Given the description of an element on the screen output the (x, y) to click on. 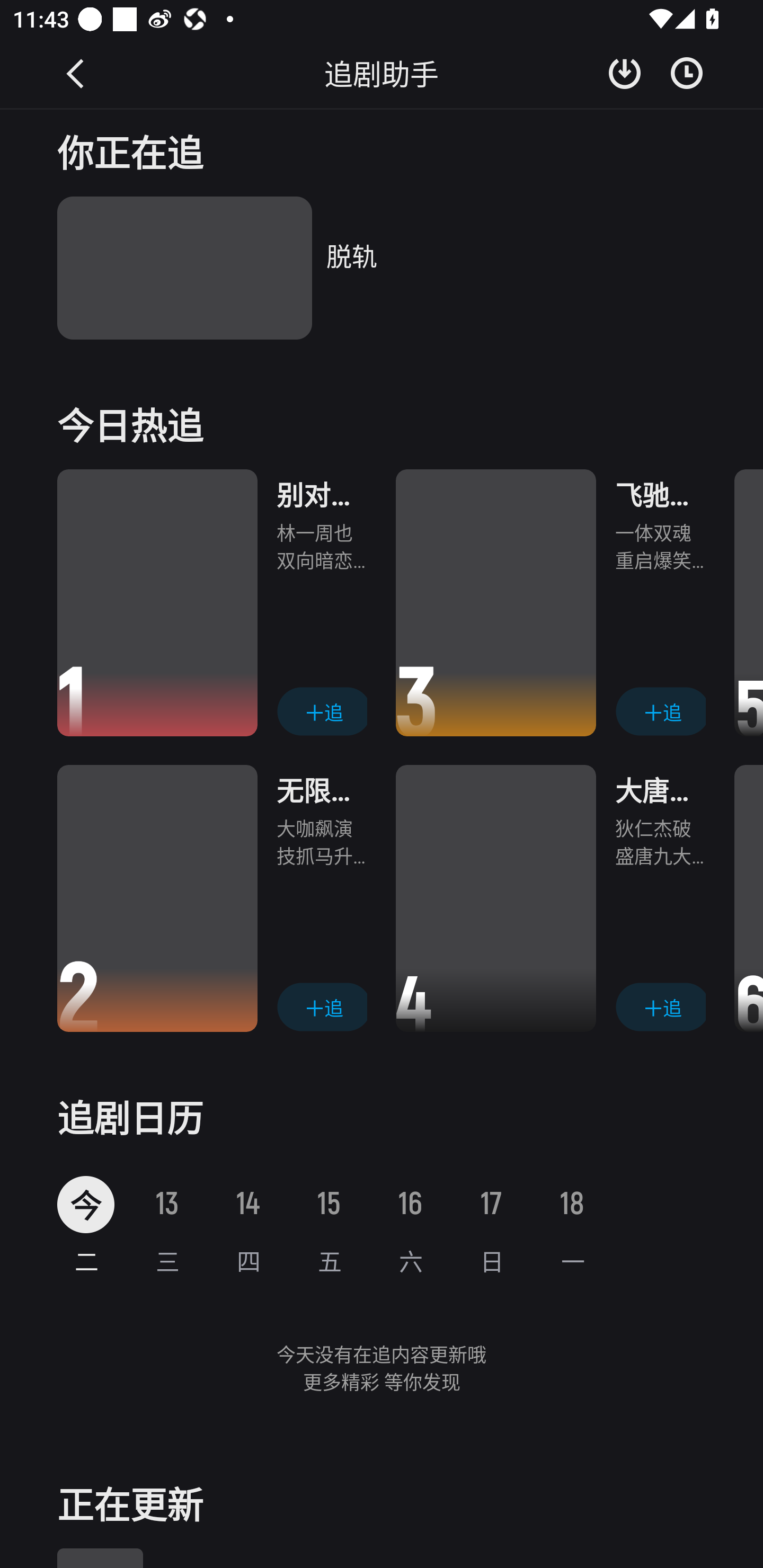
追剧助手 (381, 72)
 返回 (76, 72)
下载 (624, 72)
历史 (686, 72)
你正在追 (381, 150)
30集全， 脱轨， (381, 268)
今日热追 (381, 423)
追 (321, 711)
追 (659, 711)
追 (321, 1006)
追 (659, 1006)
追剧日历 (381, 1116)
今 二 (85, 1225)
13 三 (166, 1225)
14 四 (247, 1225)
15 五 (328, 1225)
16 六 (409, 1225)
17 日 (490, 1225)
18 一 (572, 1225)
正在更新 (381, 1501)
